Given the description of an element on the screen output the (x, y) to click on. 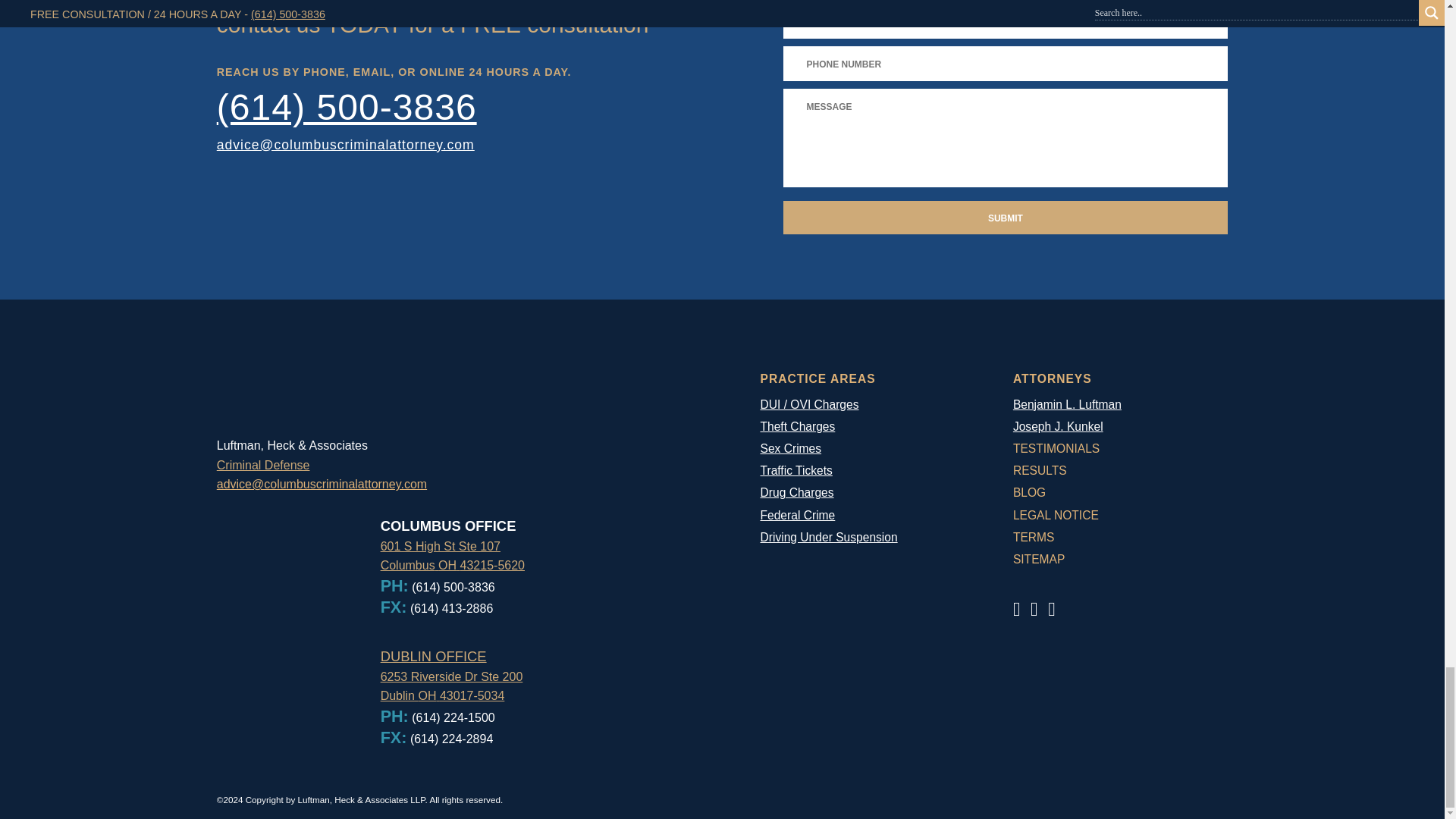
Email us today (321, 483)
Submit (1005, 217)
Head to the Homepage (386, 427)
Dublin Office (433, 656)
Luftman, Heck and Associates (439, 106)
Email us today (345, 144)
